Given the description of an element on the screen output the (x, y) to click on. 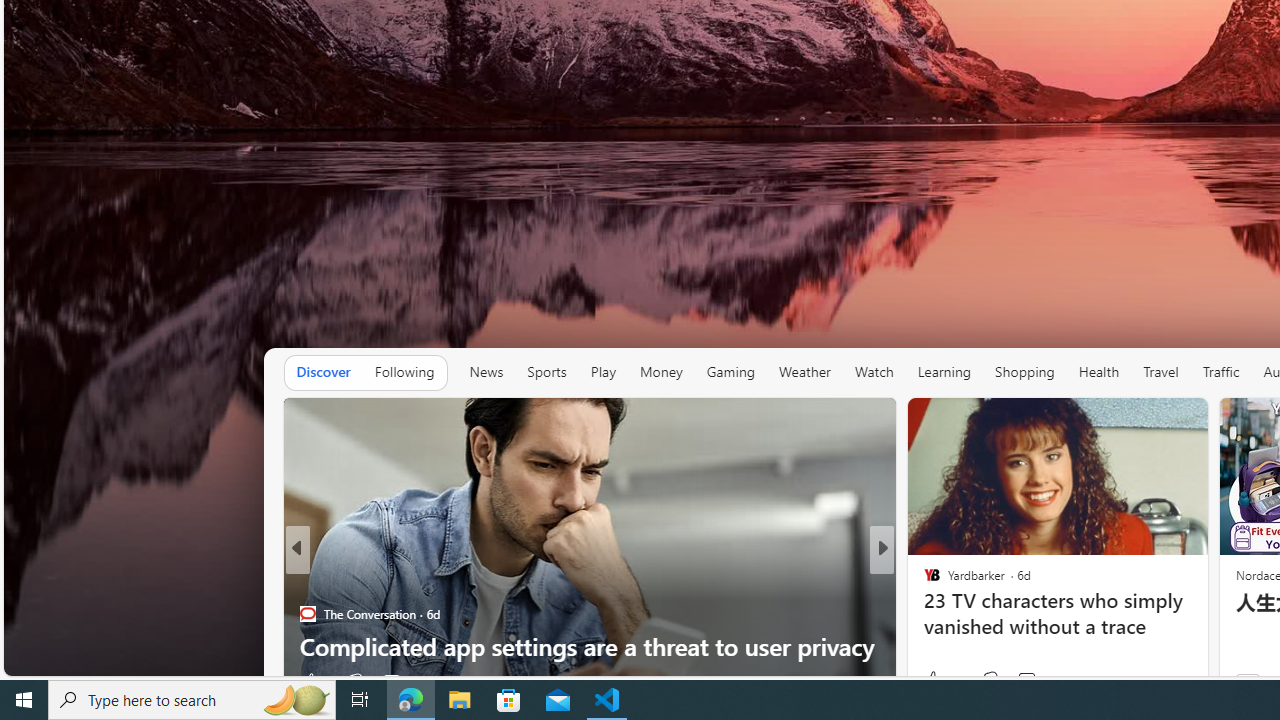
View comments 255 Comment (1025, 681)
CNN (923, 581)
The Conversation (307, 614)
Weather (804, 372)
View comments 255 Comment (1013, 681)
View comments 46 Comment (1026, 679)
KFDX Wichita Falls (923, 581)
View comments 25 Comment (1014, 681)
Start the conversation (1013, 681)
Yardbarker (923, 581)
Travel (1160, 372)
Money (660, 371)
Gaming (730, 371)
Health (1098, 372)
Start the conversation (1014, 681)
